Given the description of an element on the screen output the (x, y) to click on. 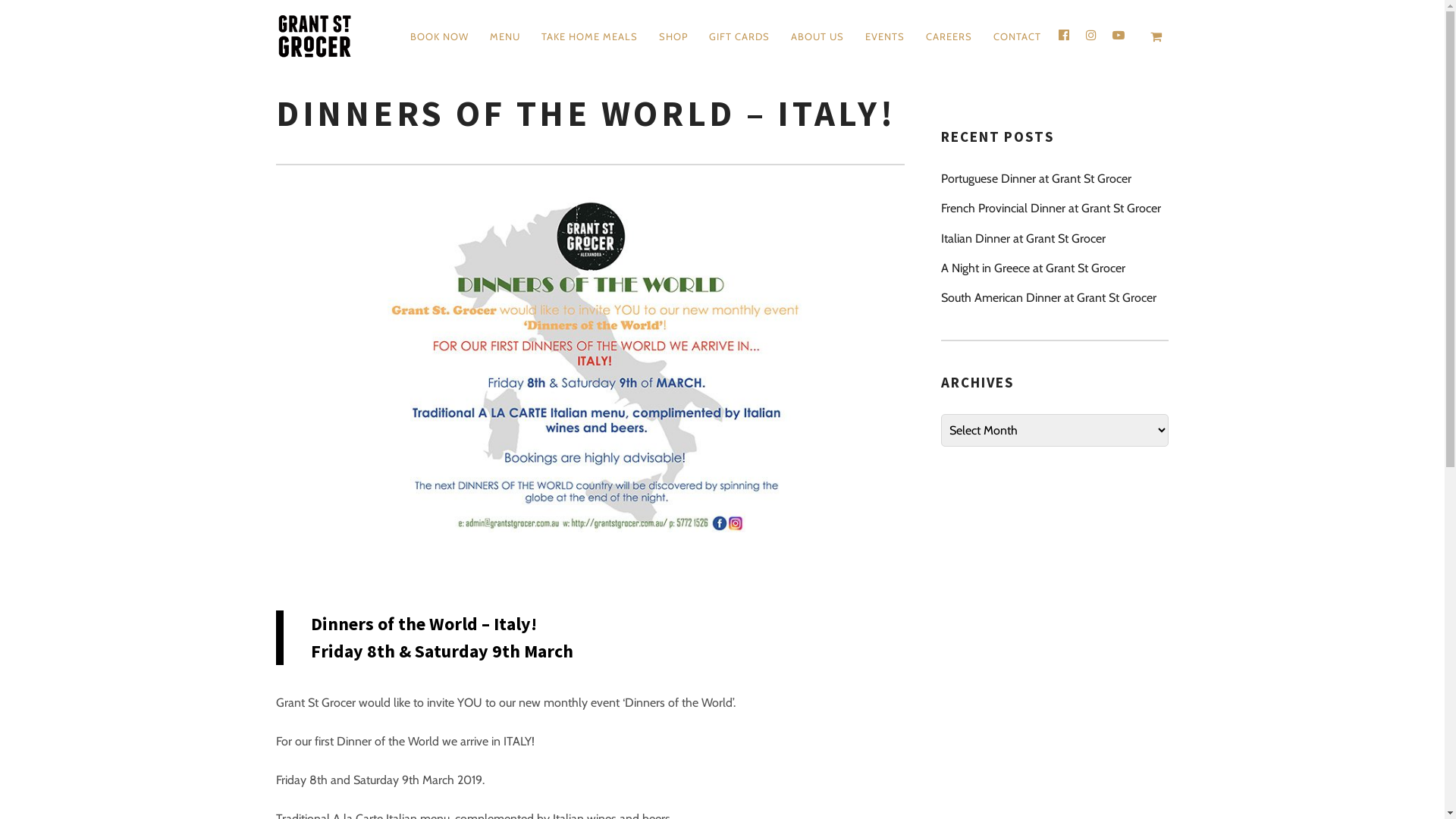
CAREERS Element type: text (948, 35)
Italian Dinner at Grant St Grocer Element type: text (1054, 238)
A Night in Greece at Grant St Grocer Element type: text (1054, 267)
INSTAGRAM Element type: text (1090, 34)
South American Dinner at Grant St Grocer Element type: text (1054, 297)
SHOP Element type: text (672, 35)
ABOUT US Element type: text (817, 35)
MENU Element type: text (504, 35)
EVENTS Element type: text (884, 35)
French Provincial Dinner at Grant St Grocer Element type: text (1054, 207)
BOOK NOW Element type: text (439, 35)
Portuguese Dinner at Grant St Grocer Element type: text (1054, 178)
CONTACT Element type: text (1017, 35)
GIFT CARDS Element type: text (738, 35)
FACEBOOK Element type: text (1063, 34)
Grant St. Grocer Alexandra Element type: hover (316, 36)
YOUTUBE Element type: text (1118, 34)
TAKE HOME MEALS Element type: text (589, 35)
